Given the description of an element on the screen output the (x, y) to click on. 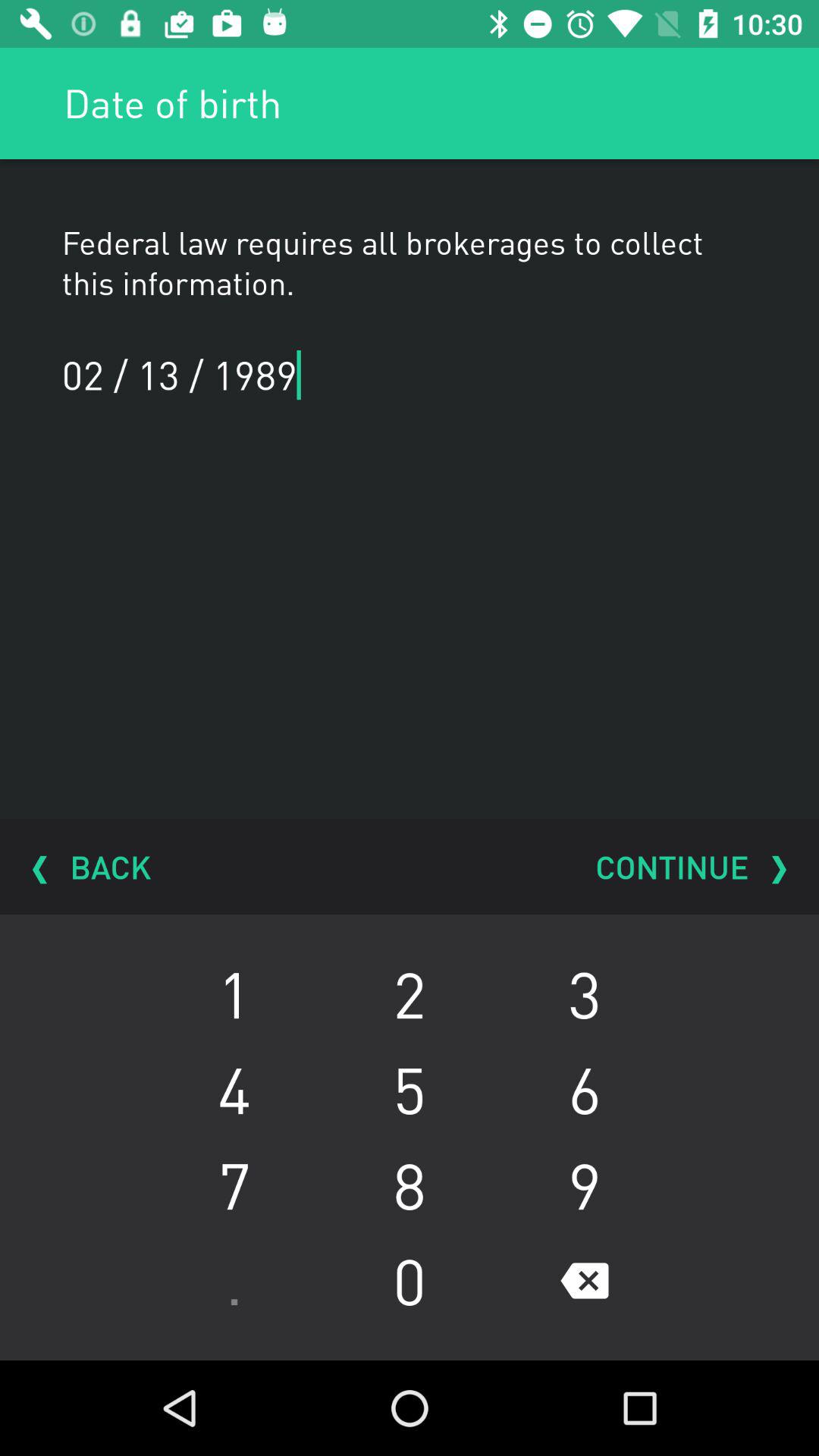
turn on the item to the right of 4 item (409, 1185)
